Given the description of an element on the screen output the (x, y) to click on. 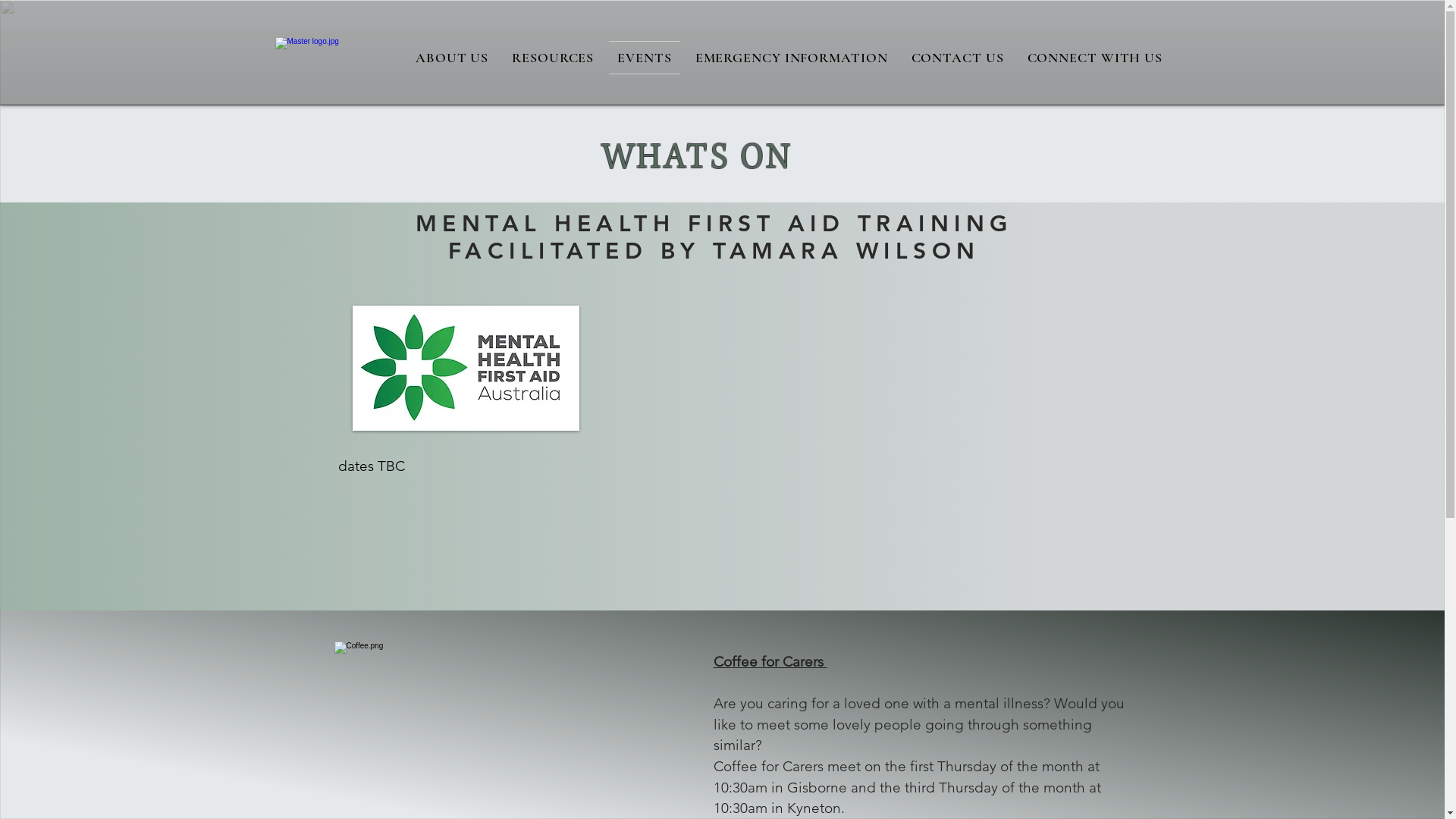
CONTACT US Element type: text (957, 57)
EVENTS Element type: text (644, 57)
ABOUT US Element type: text (451, 57)
EMERGENCY INFORMATION Element type: text (791, 57)
RESOURCES Element type: text (552, 57)
CONNECT WITH US Element type: text (1094, 57)
